Given the description of an element on the screen output the (x, y) to click on. 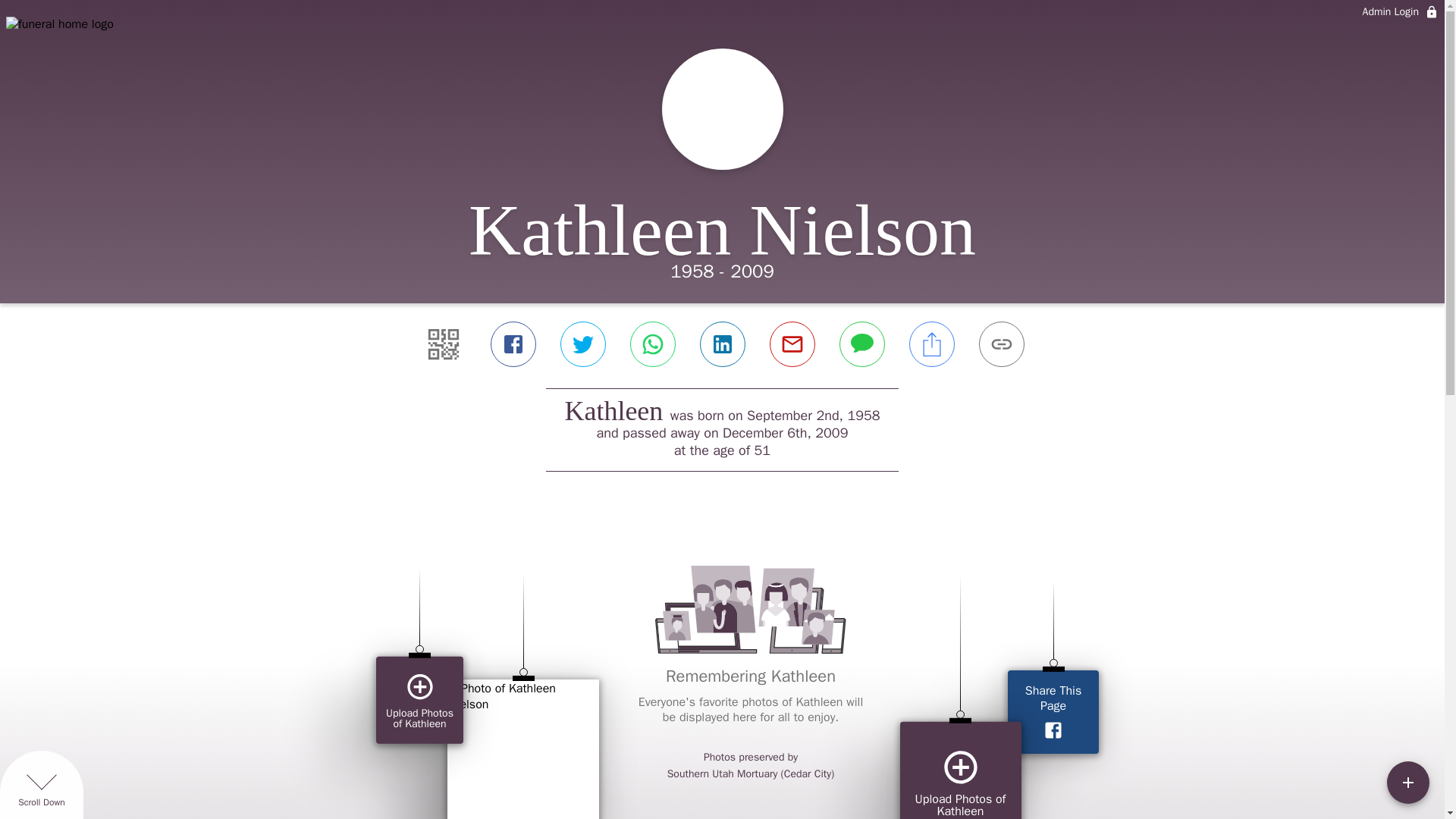
Share This Page (1053, 711)
Upload Photos of Kathleen (959, 770)
Upload Photos of Kathleen (419, 699)
